Given the description of an element on the screen output the (x, y) to click on. 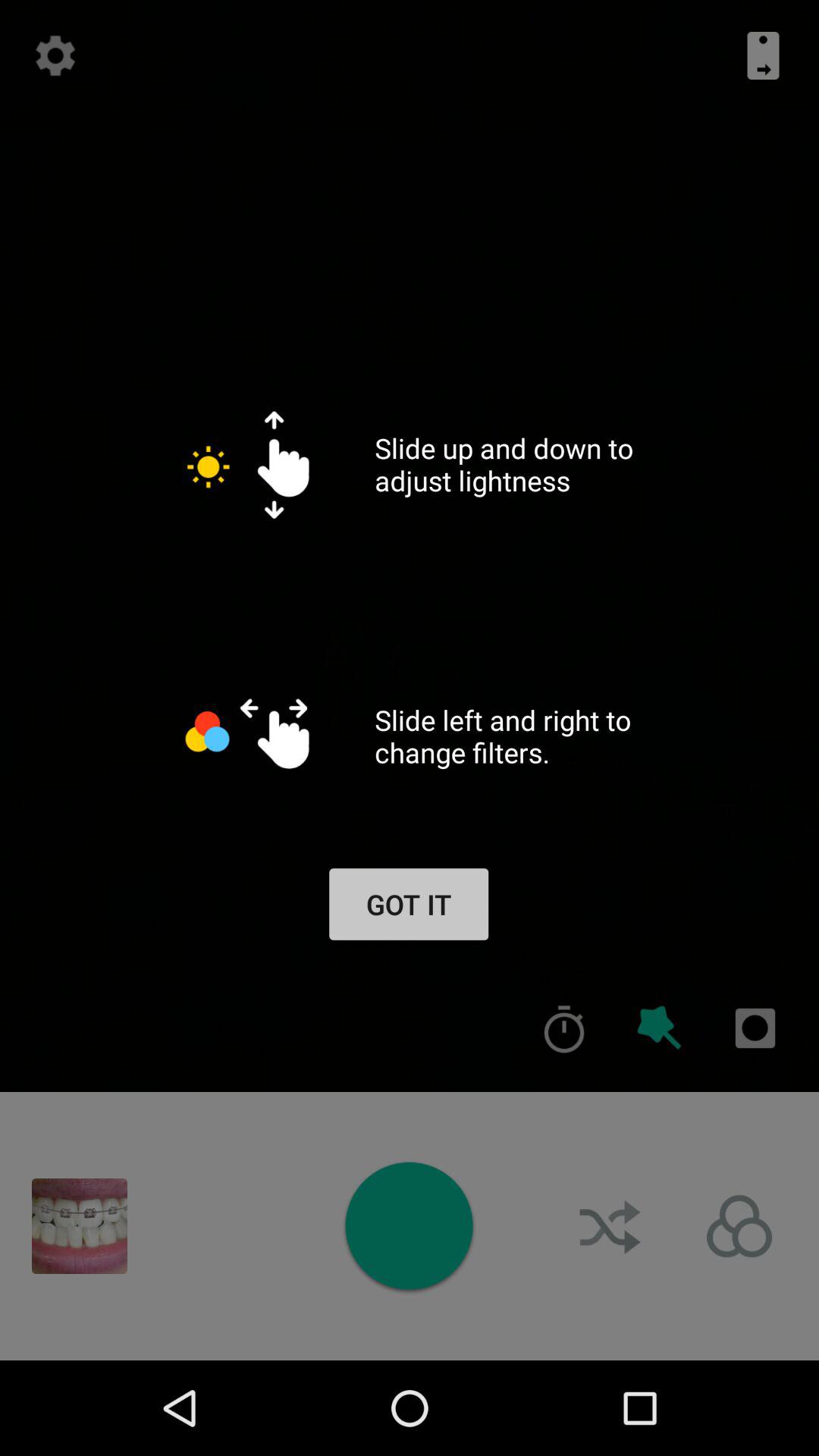
take a picture (408, 1225)
